Given the description of an element on the screen output the (x, y) to click on. 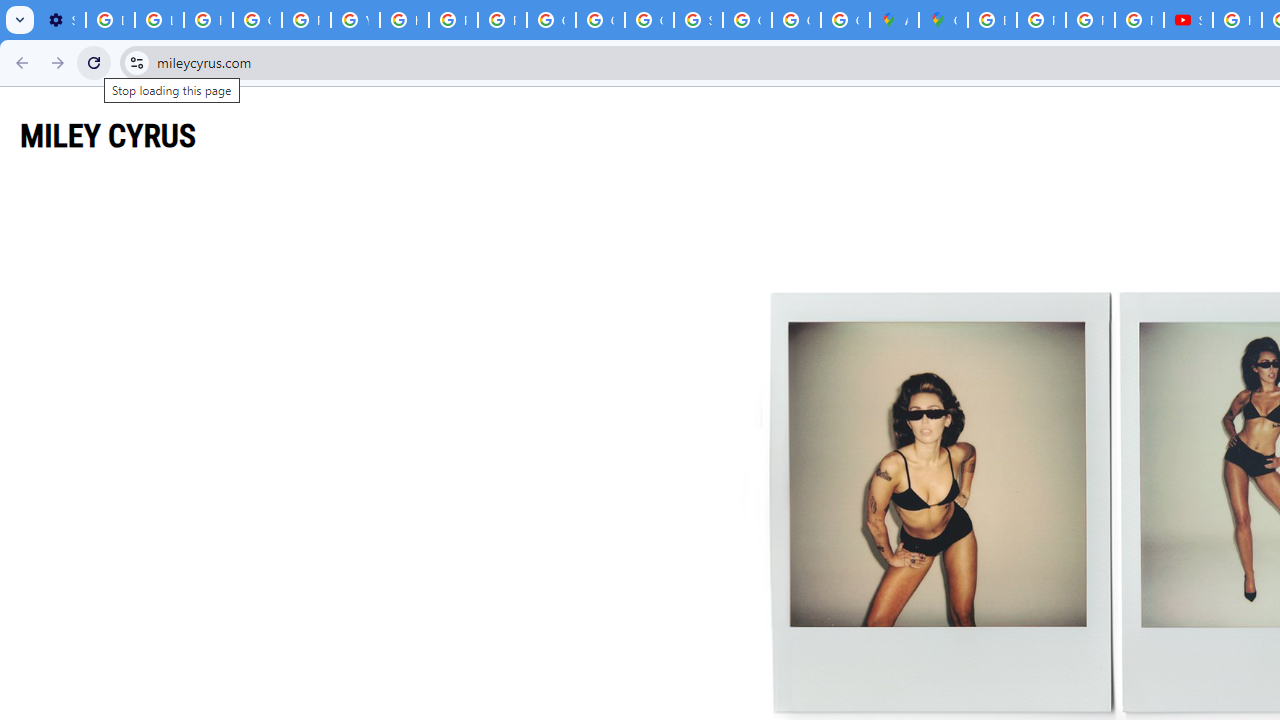
YouTube (355, 20)
Subscriptions - YouTube (1188, 20)
